Given the description of an element on the screen output the (x, y) to click on. 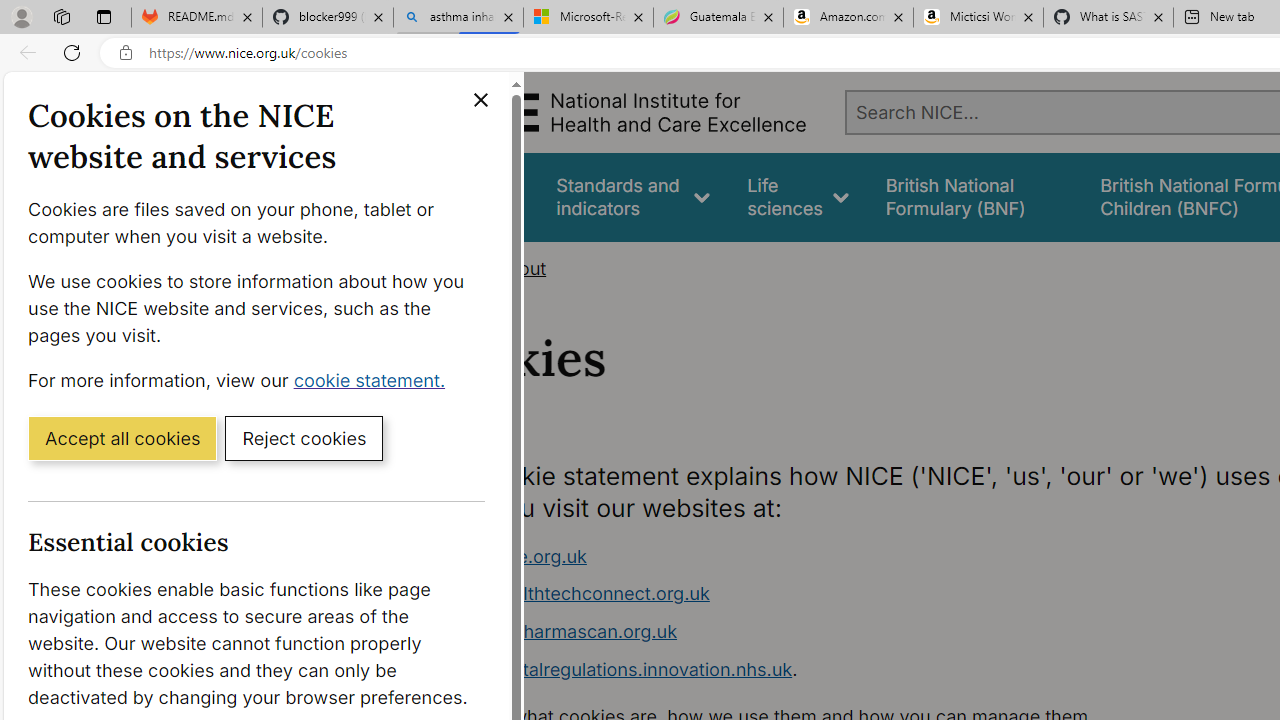
false (974, 196)
www.healthtechconnect.org.uk (818, 594)
Reject cookies (304, 437)
www.digitalregulations.innovation.nhs.uk (617, 668)
www.digitalregulations.innovation.nhs.uk. (818, 669)
